Given the description of an element on the screen output the (x, y) to click on. 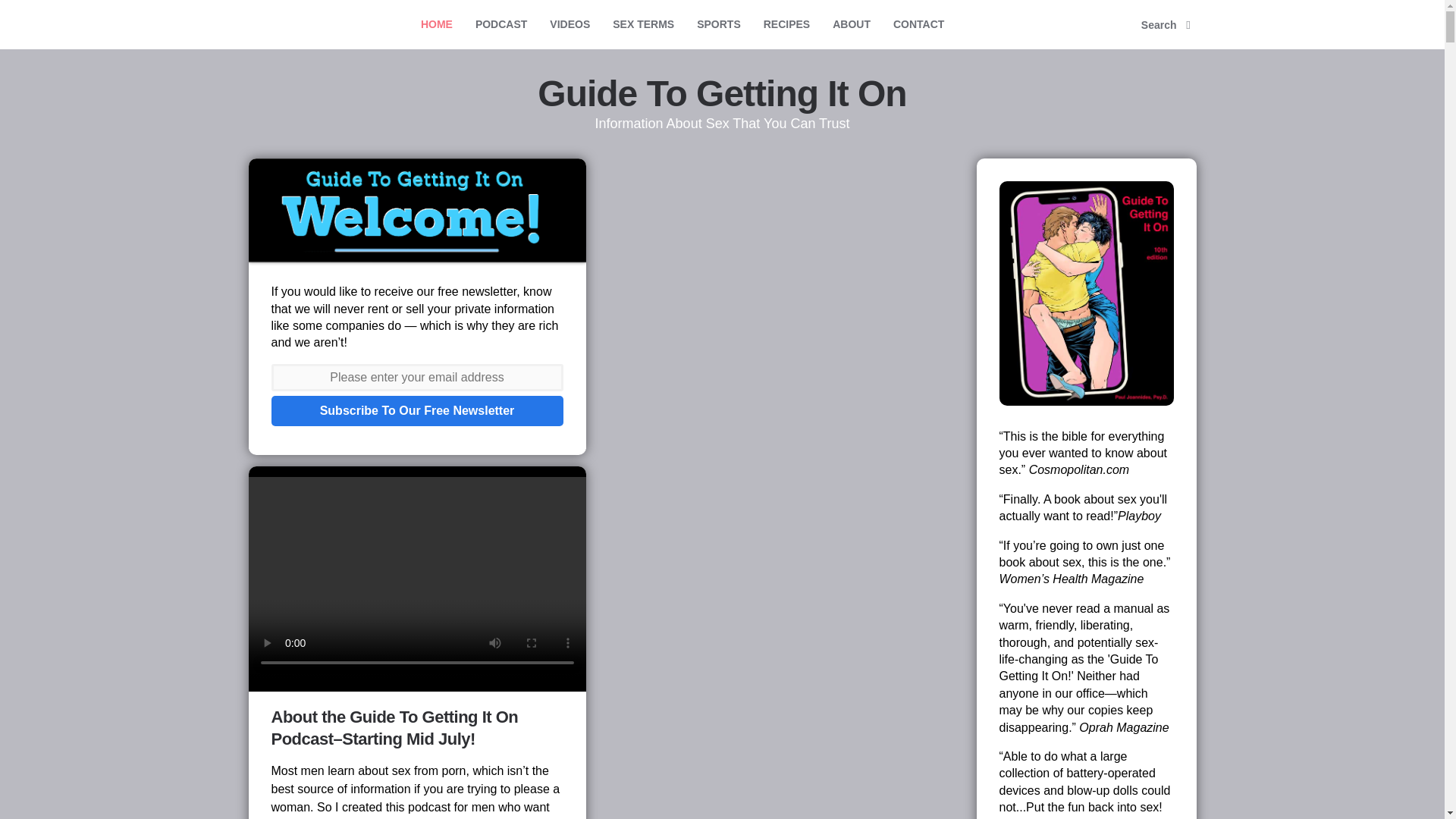
PODCAST (501, 24)
ABOUT (851, 24)
VIDEOS (569, 24)
CONTACT (918, 24)
Subscribe To Our Free Newsletter (416, 410)
HOME (436, 24)
SPORTS (718, 24)
SEX TERMS (643, 24)
Subscribe To Our Free Newsletter (416, 410)
Guide To Getting It On (721, 94)
RECIPES (786, 24)
